Given the description of an element on the screen output the (x, y) to click on. 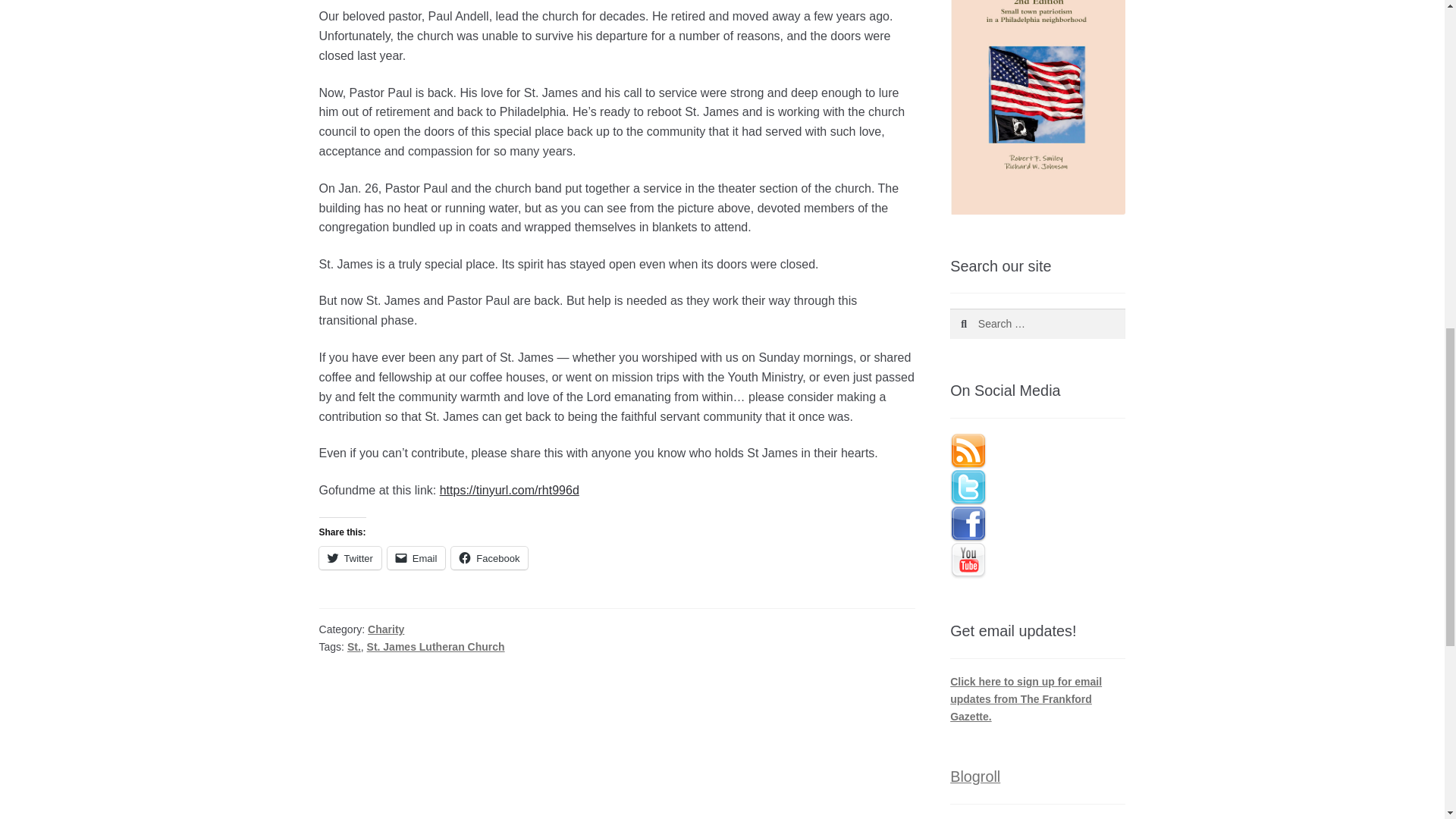
Charity (386, 629)
Click to email a link to a friend (416, 558)
Email (416, 558)
Twitter (349, 558)
Facebook (489, 558)
Click to share on Twitter (349, 558)
Click to share on Facebook (489, 558)
